Given the description of an element on the screen output the (x, y) to click on. 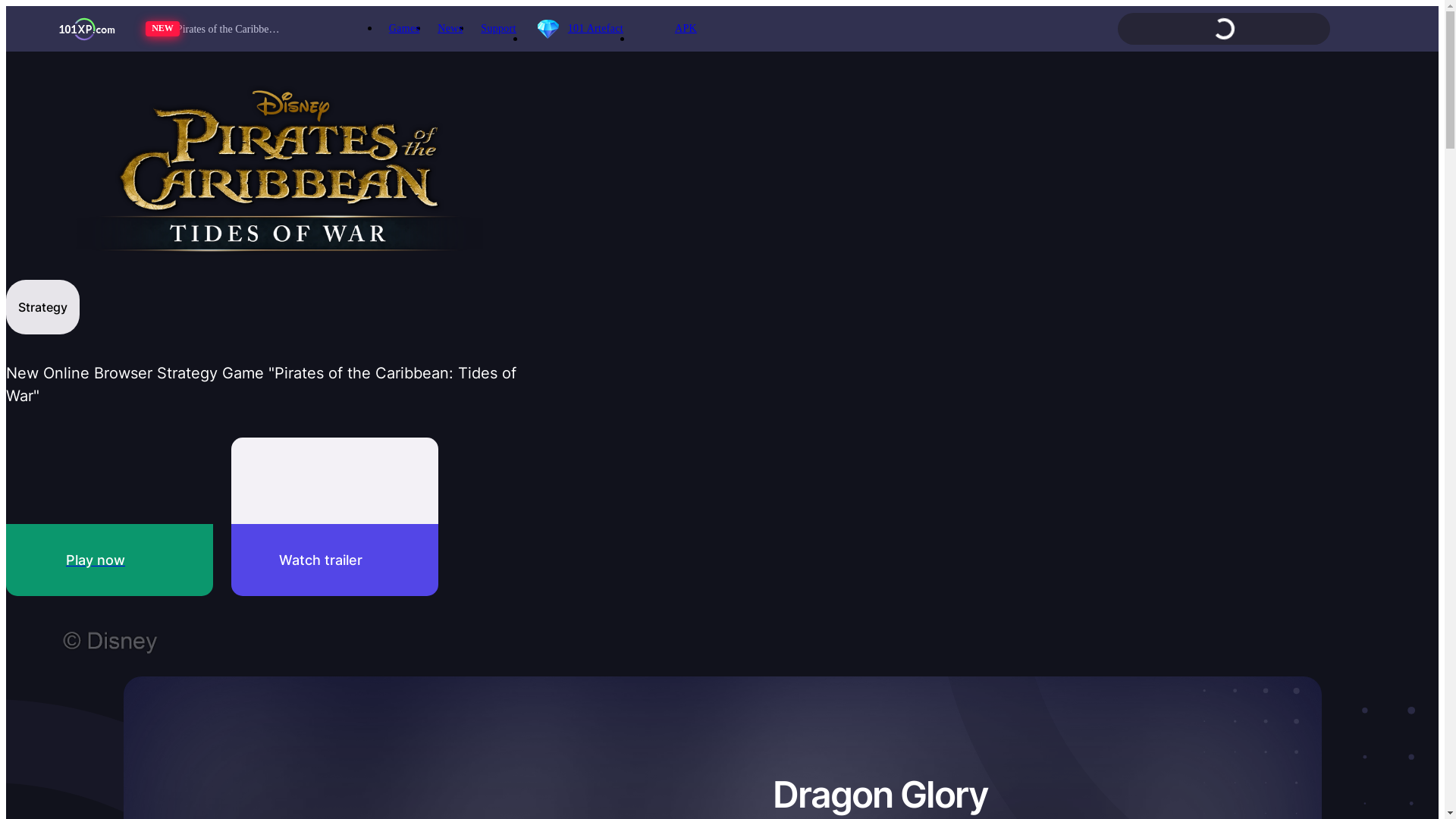
Support Element type: text (497, 28)
NEW
Pirates of the Caribbean: Tides of War Element type: text (239, 29)
Watch trailer Element type: text (334, 516)
News Element type: text (449, 28)
101 Artefact Element type: text (578, 28)
Play now Element type: text (109, 516)
Games Element type: text (403, 28)
APK Element type: text (669, 28)
